Given the description of an element on the screen output the (x, y) to click on. 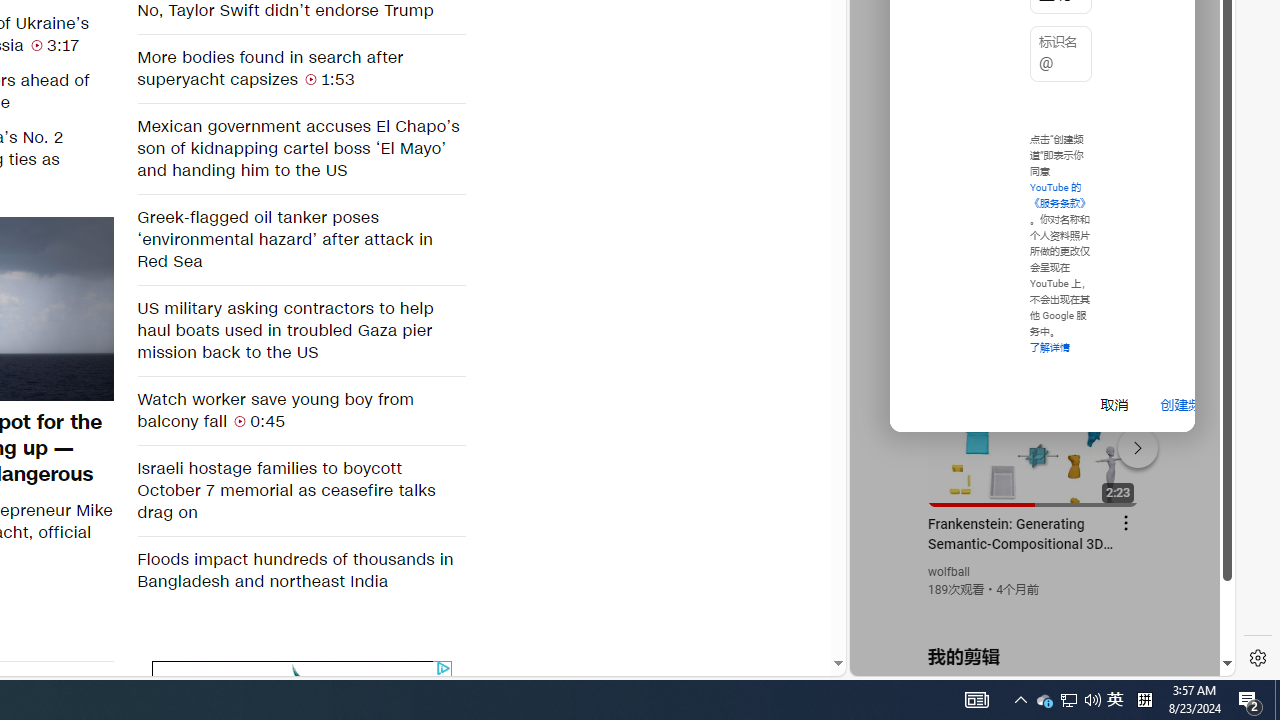
Watch worker save young boy from balcony fall 0:45 (300, 410)
AutomationID: brandFlyLogo (302, 676)
US[ju] (917, 660)
Class: container__video-duration-icon (240, 420)
